Given the description of an element on the screen output the (x, y) to click on. 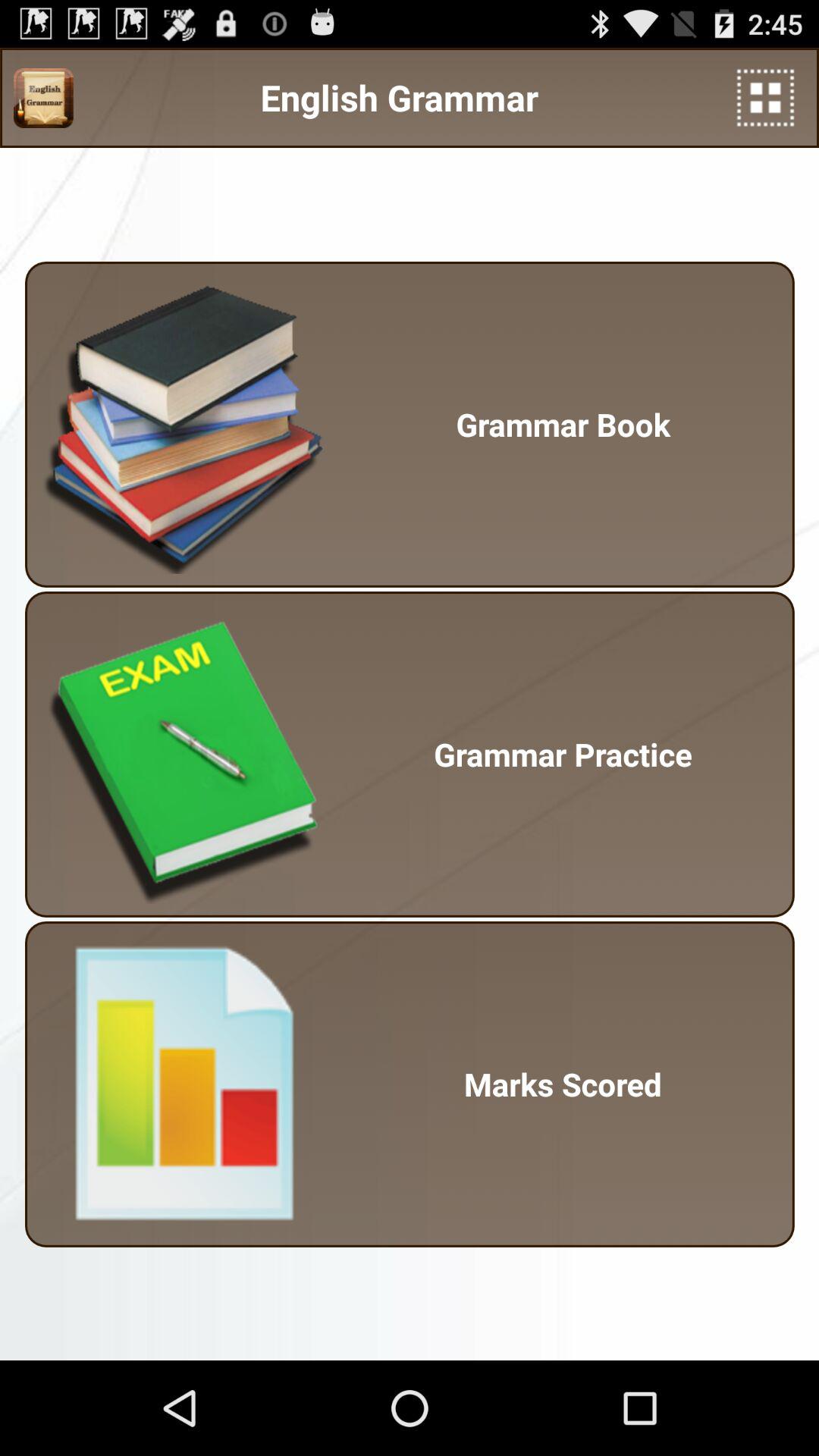
go back (765, 97)
